Given the description of an element on the screen output the (x, y) to click on. 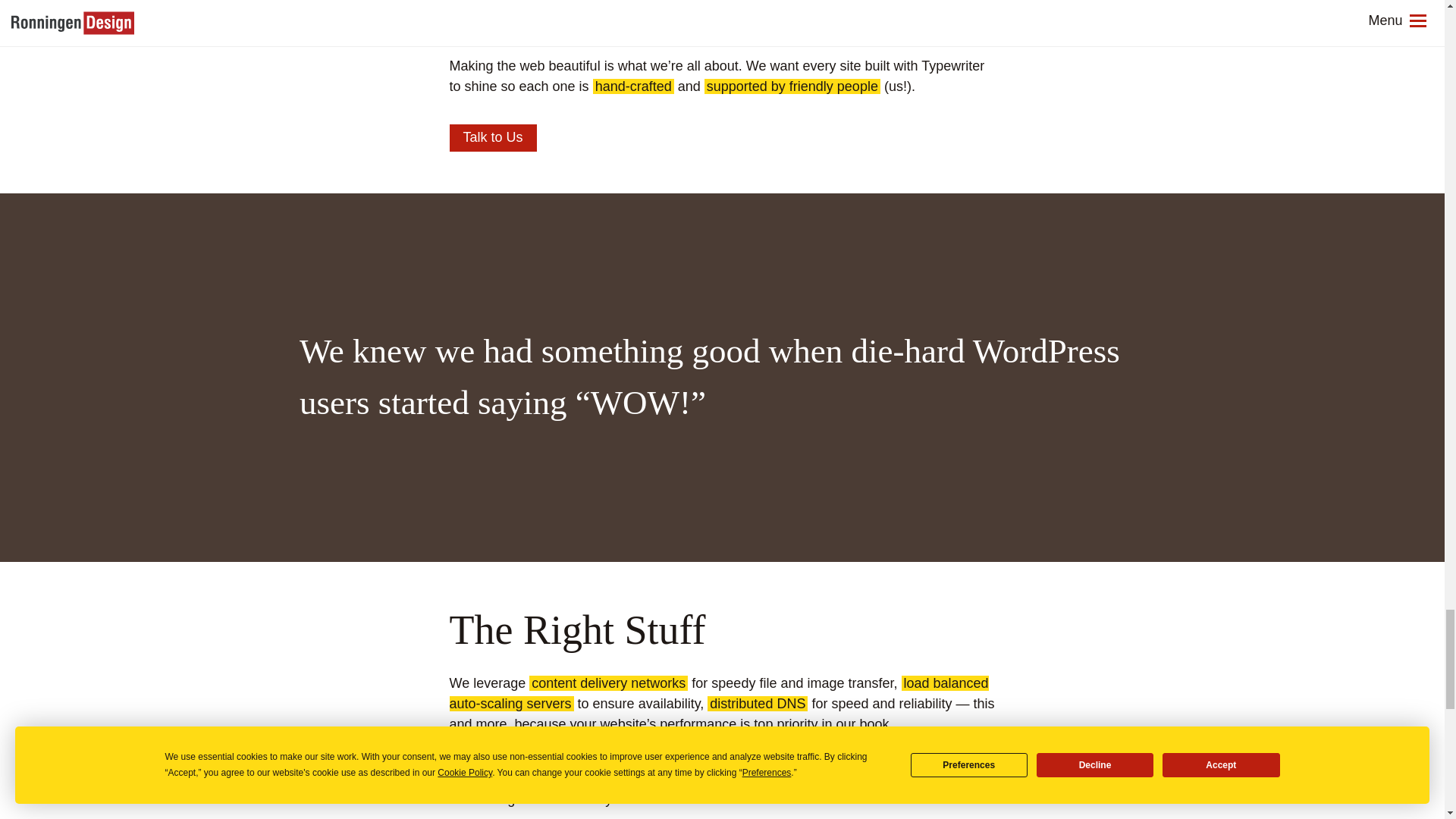
Talk to Us (491, 137)
